Given the description of an element on the screen output the (x, y) to click on. 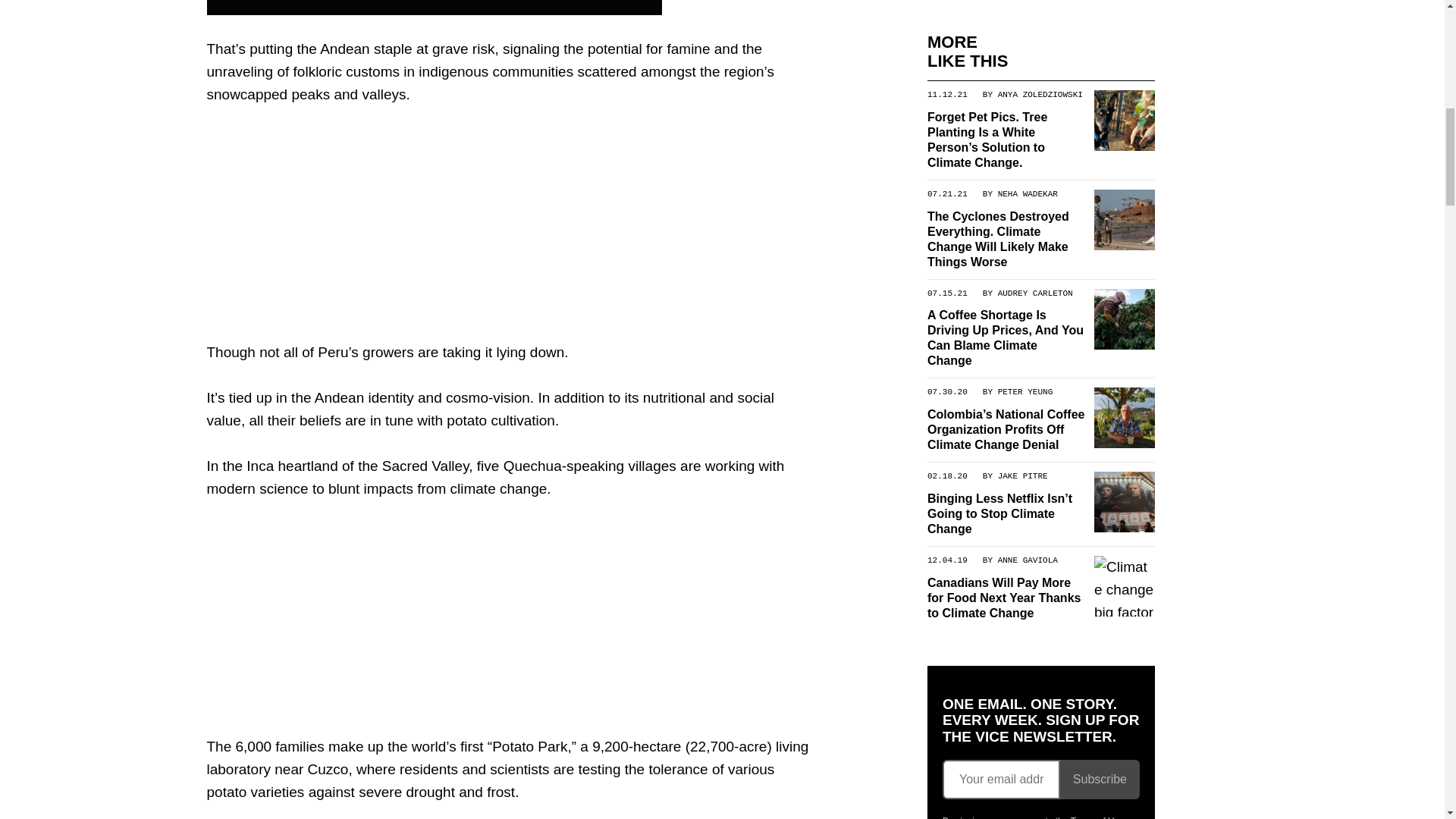
Posts by Jake Pitre (1021, 474)
Posts by Audrey Carleton (1034, 292)
Posts by Anya Zoledziowski (1039, 93)
Posts by Peter Yeung (1024, 391)
Posts by Neha Wadekar (1027, 193)
Newsletter Signup Form (1040, 779)
Posts by Anne Gaviola (1027, 559)
